Given the description of an element on the screen output the (x, y) to click on. 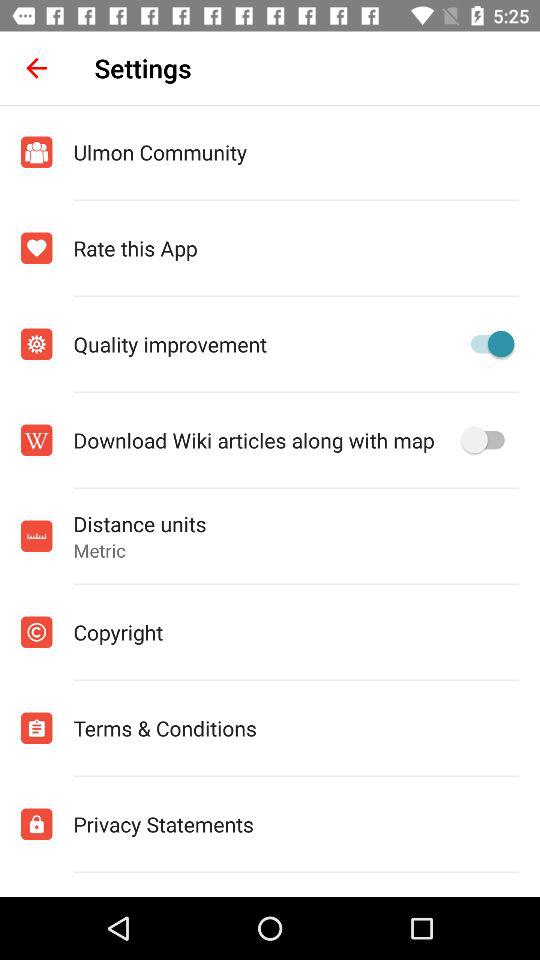
turn on (487, 343)
